Given the description of an element on the screen output the (x, y) to click on. 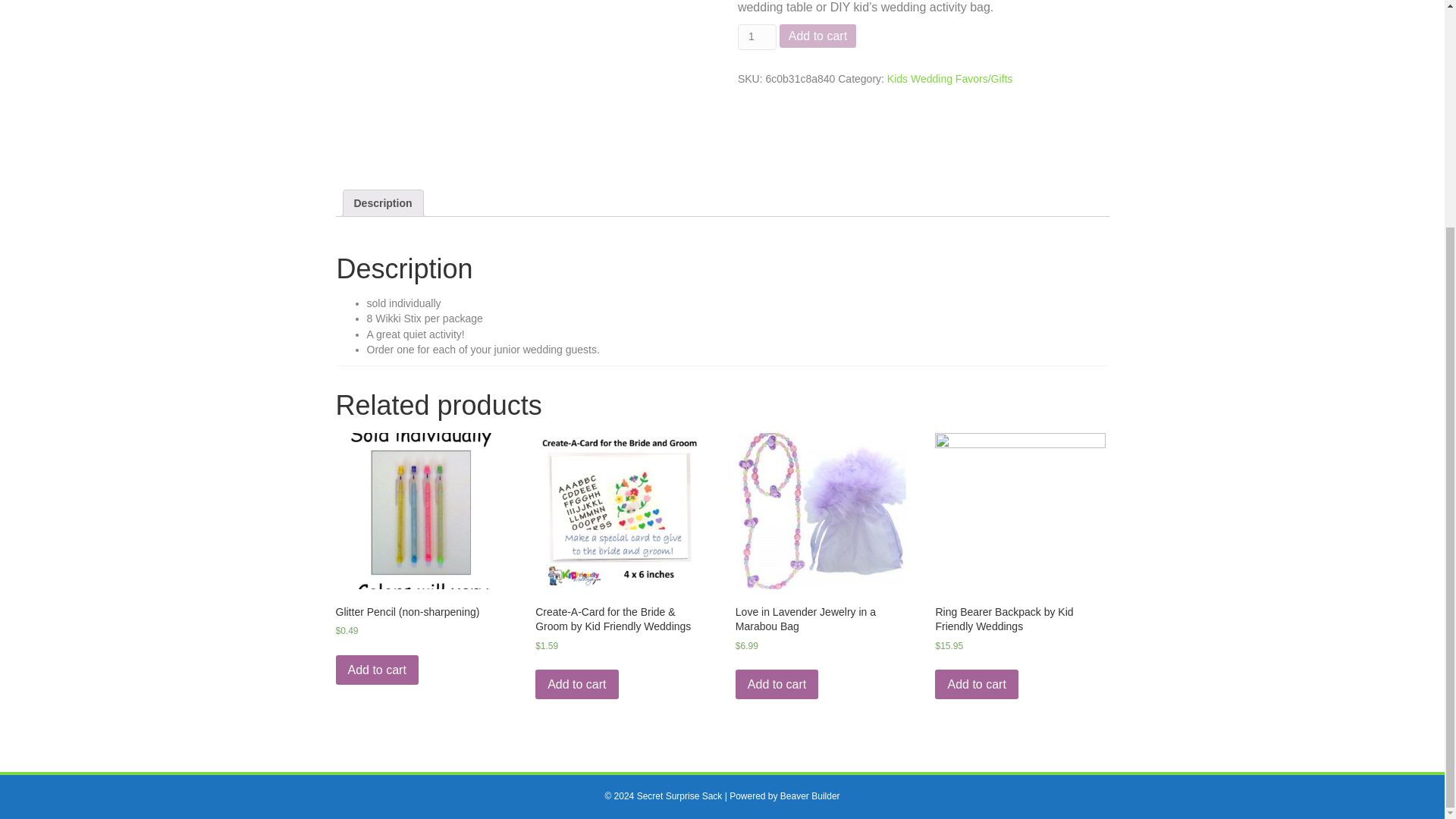
Qty (757, 36)
1 (757, 36)
Add to cart (817, 35)
WordPress Page Builder Plugin (810, 796)
